Given the description of an element on the screen output the (x, y) to click on. 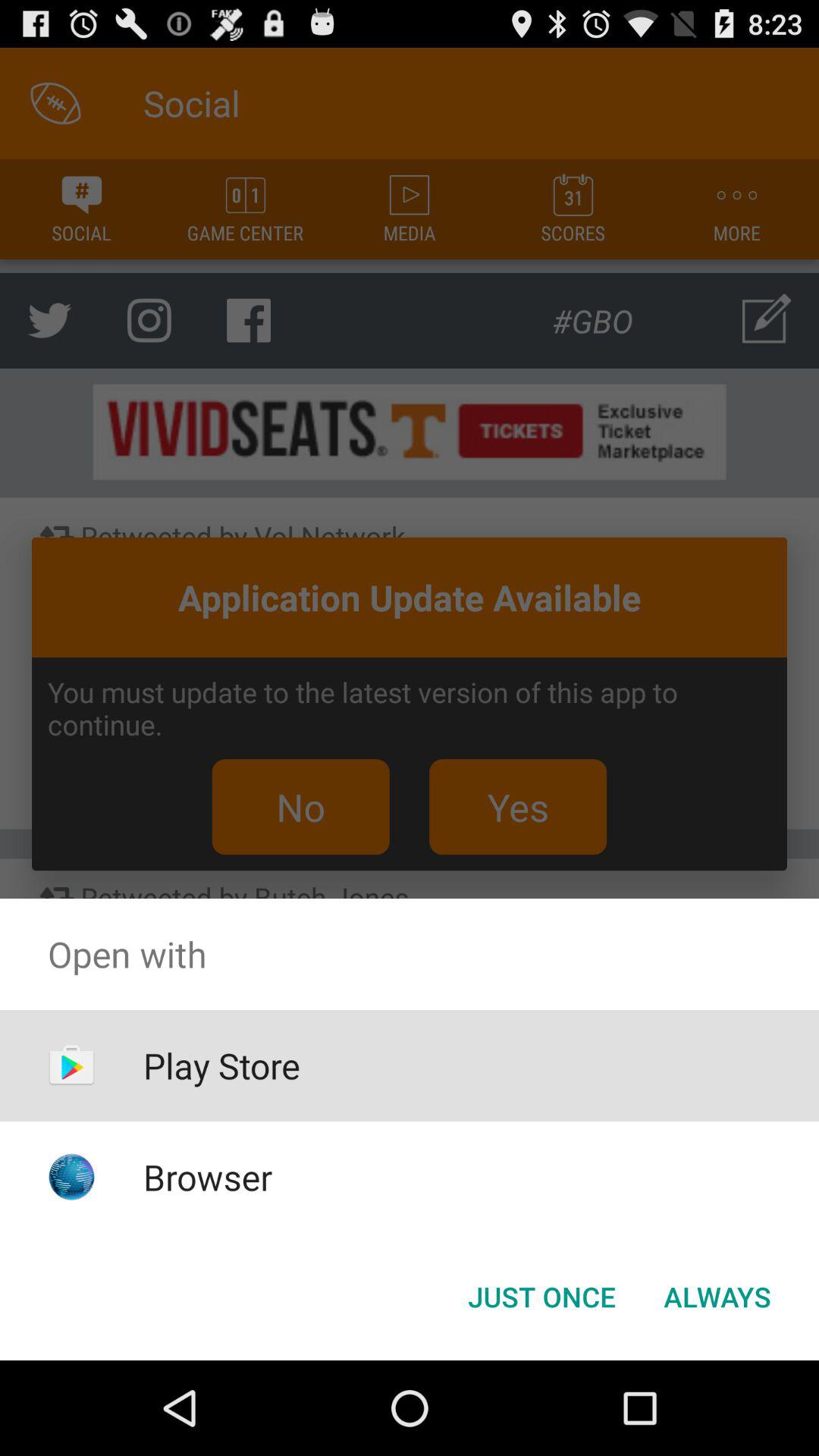
click button next to always item (541, 1296)
